Given the description of an element on the screen output the (x, y) to click on. 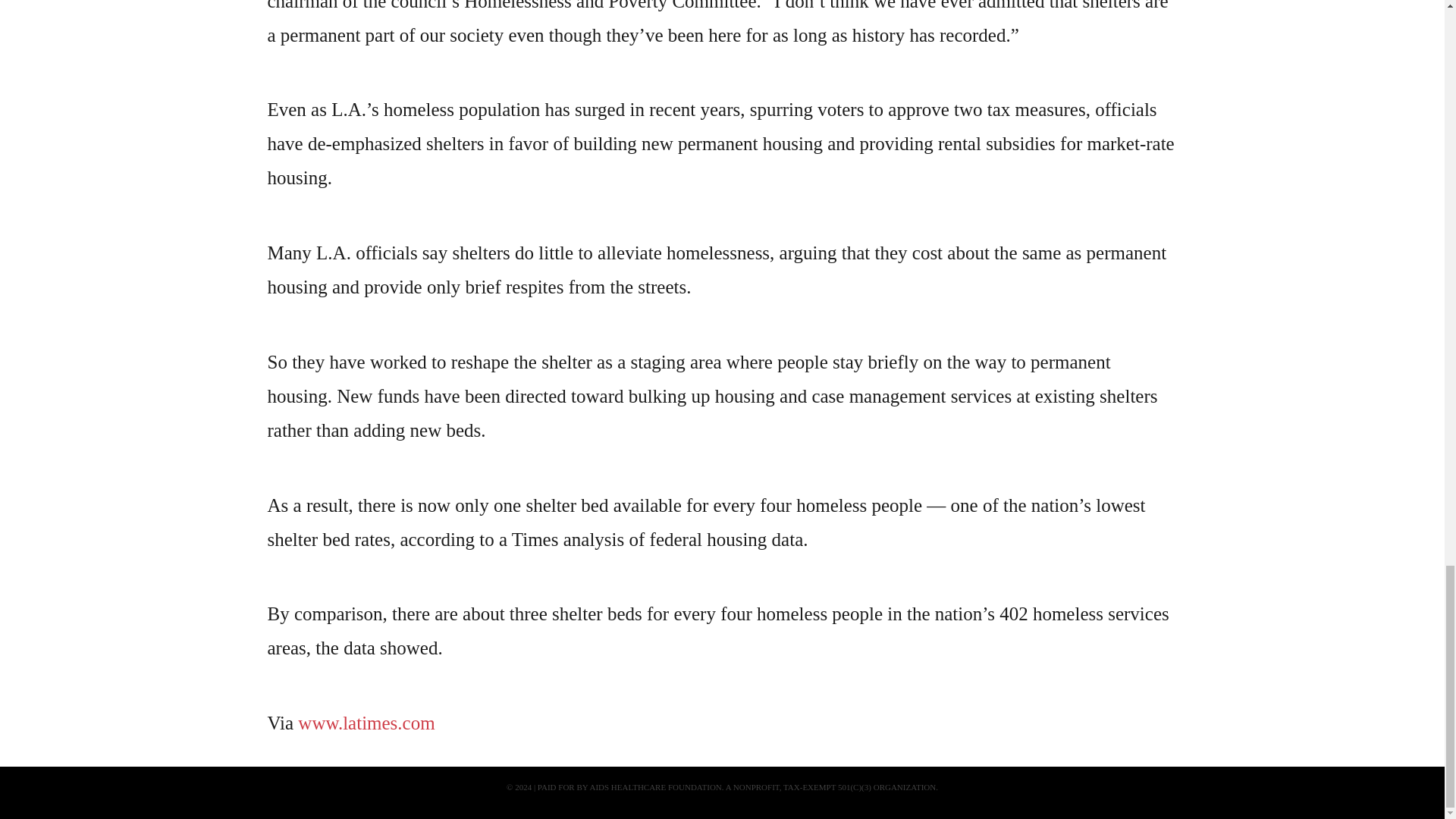
www.latimes.com (365, 722)
